Given the description of an element on the screen output the (x, y) to click on. 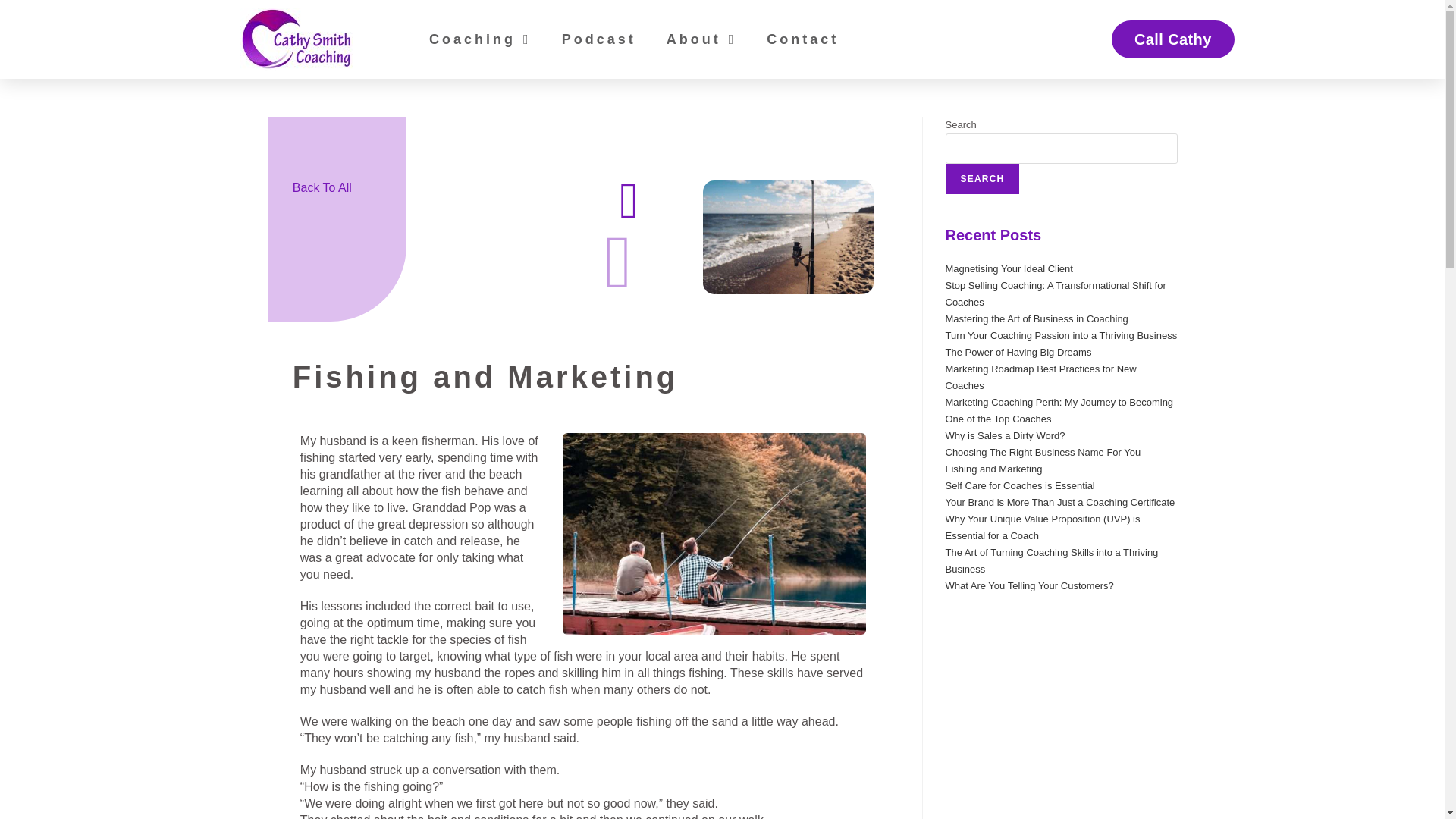
About (701, 39)
Coaching (480, 39)
Call Cathy (1173, 39)
Podcast (598, 39)
Contact (802, 39)
Men fishing (714, 534)
